Given the description of an element on the screen output the (x, y) to click on. 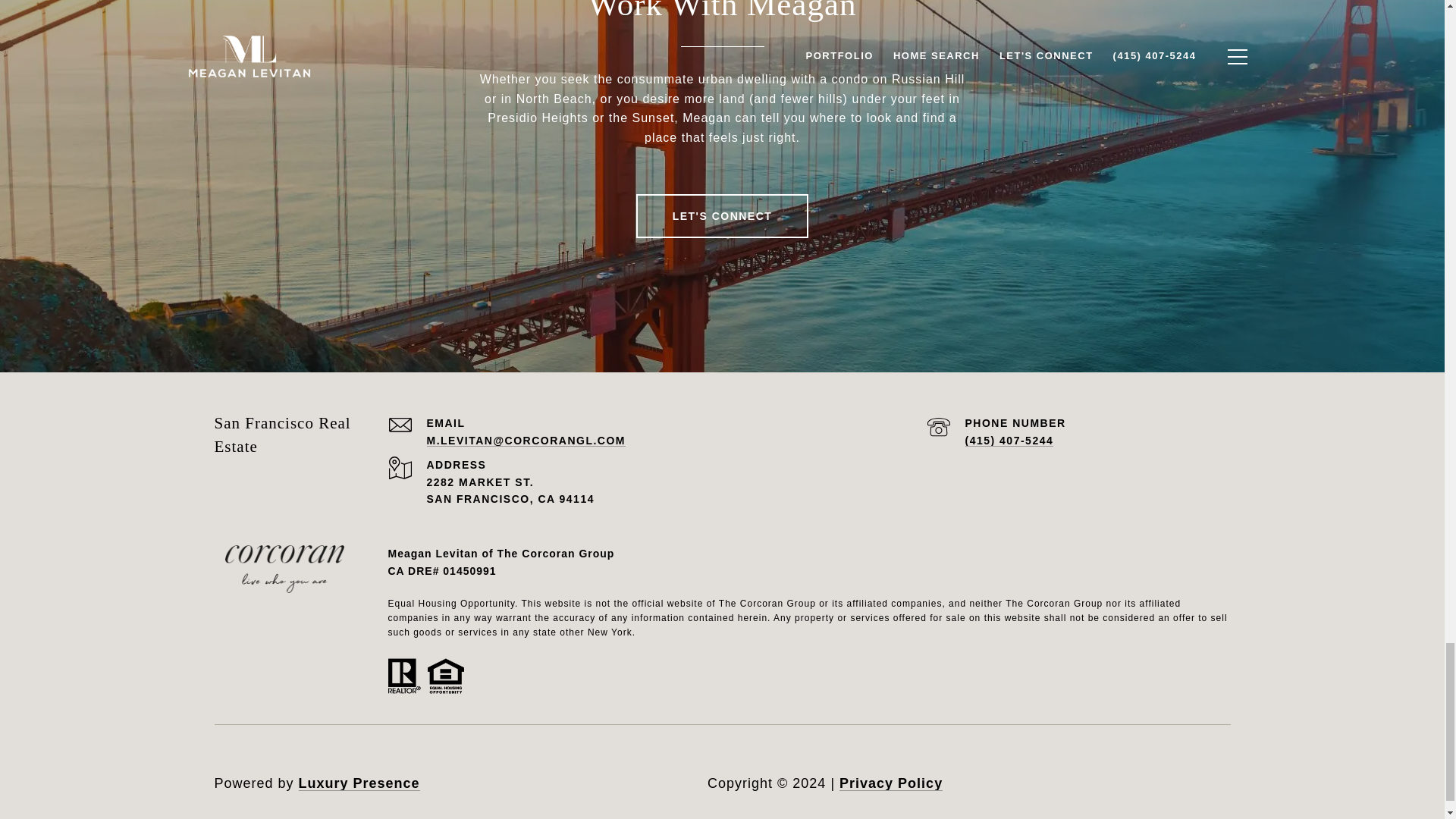
LET'S CONNECT (722, 216)
